Given the description of an element on the screen output the (x, y) to click on. 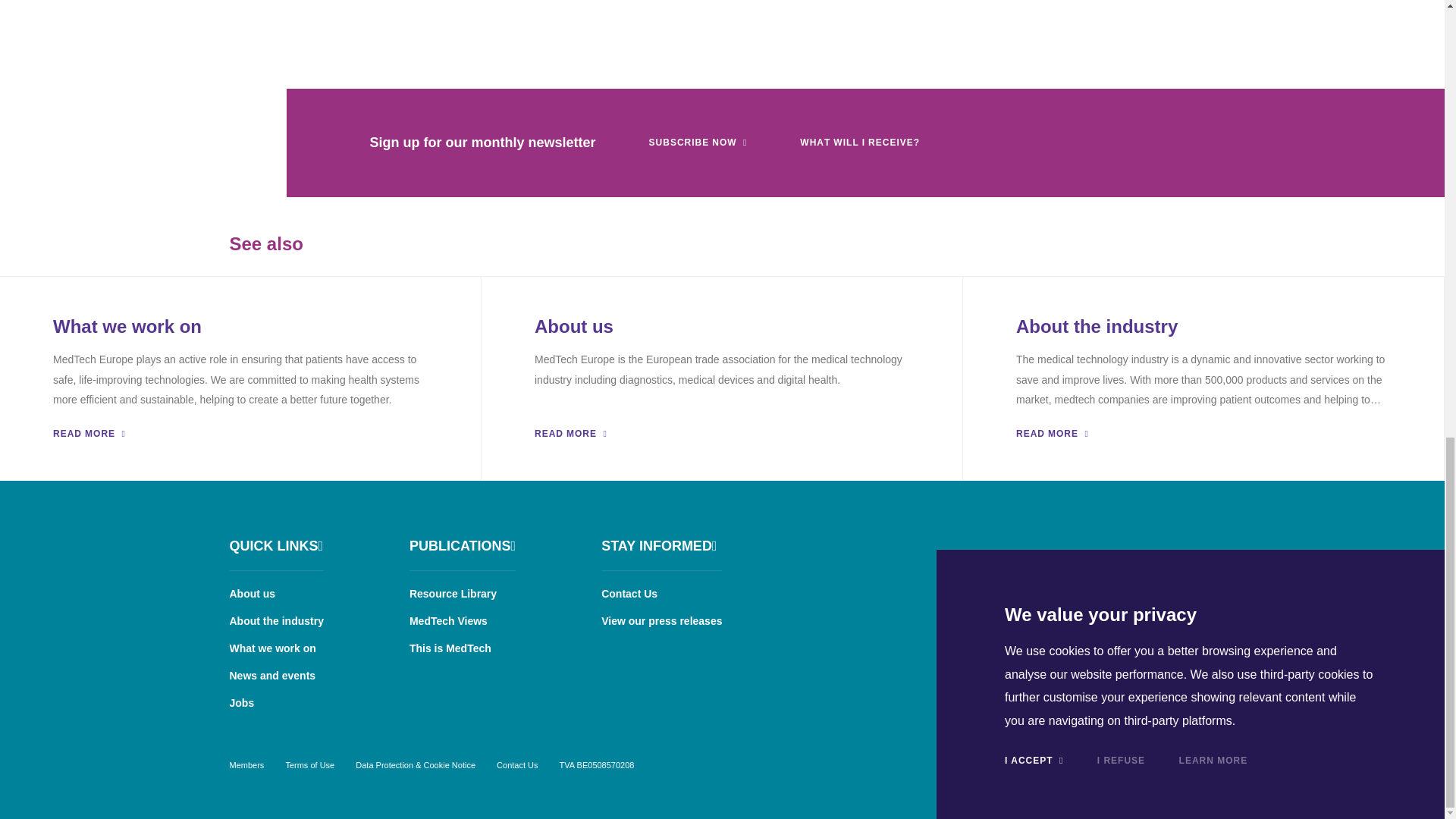
Youtube (1197, 543)
Linkedin (1114, 543)
Twitter (1155, 543)
Facebook (1072, 543)
